Given the description of an element on the screen output the (x, y) to click on. 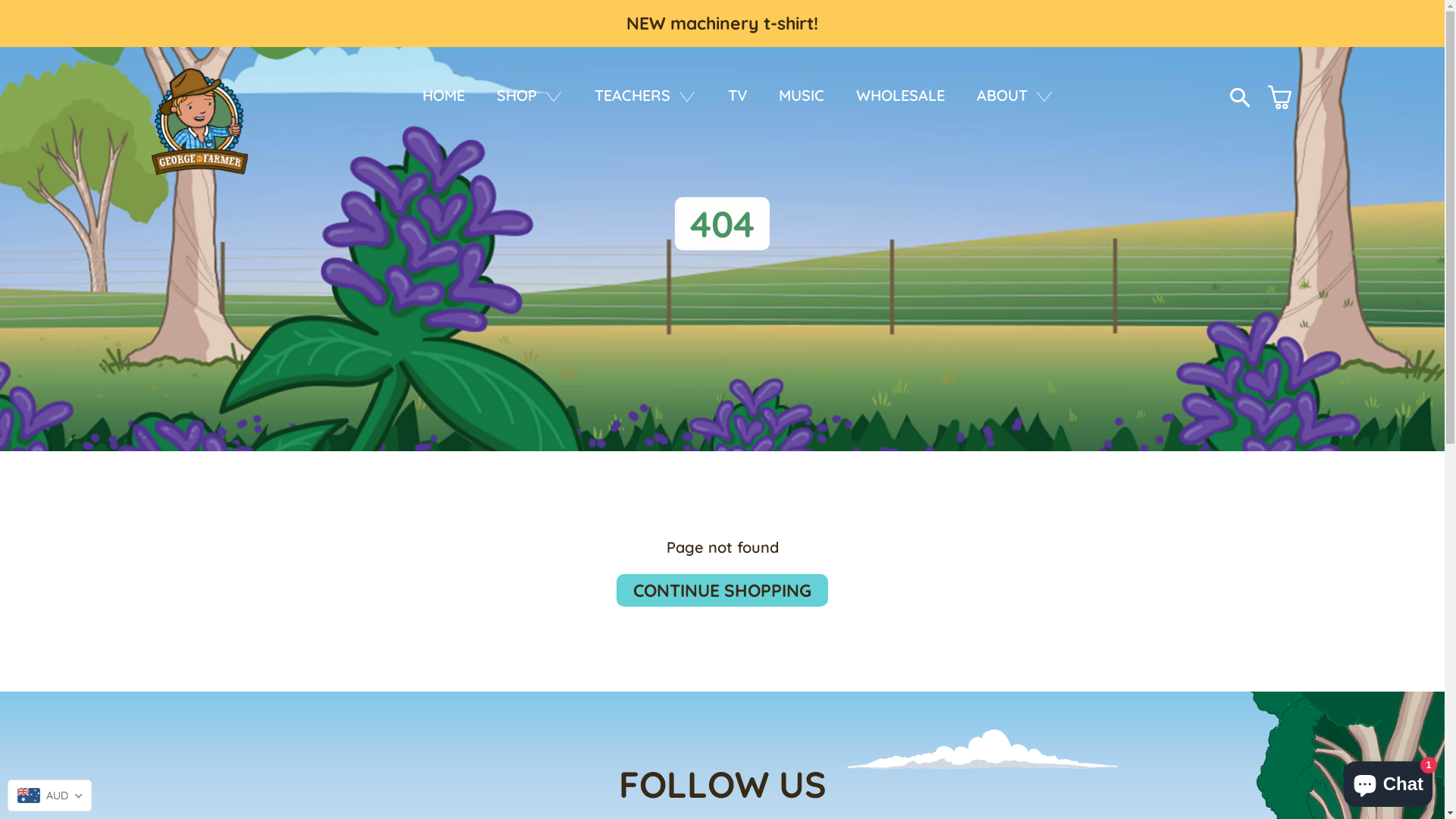
TV Element type: text (737, 94)
WHOLESALE Element type: text (899, 94)
TEACHERS Element type: text (645, 95)
Shopify online store chat Element type: hover (1388, 780)
HOME Element type: text (442, 94)
MUSIC Element type: text (800, 94)
ABOUT Element type: text (1014, 95)
CONTINUE SHOPPING Element type: text (722, 590)
SHOP Element type: text (528, 95)
NEW machinery t-shirt! Element type: text (721, 23)
